Given the description of an element on the screen output the (x, y) to click on. 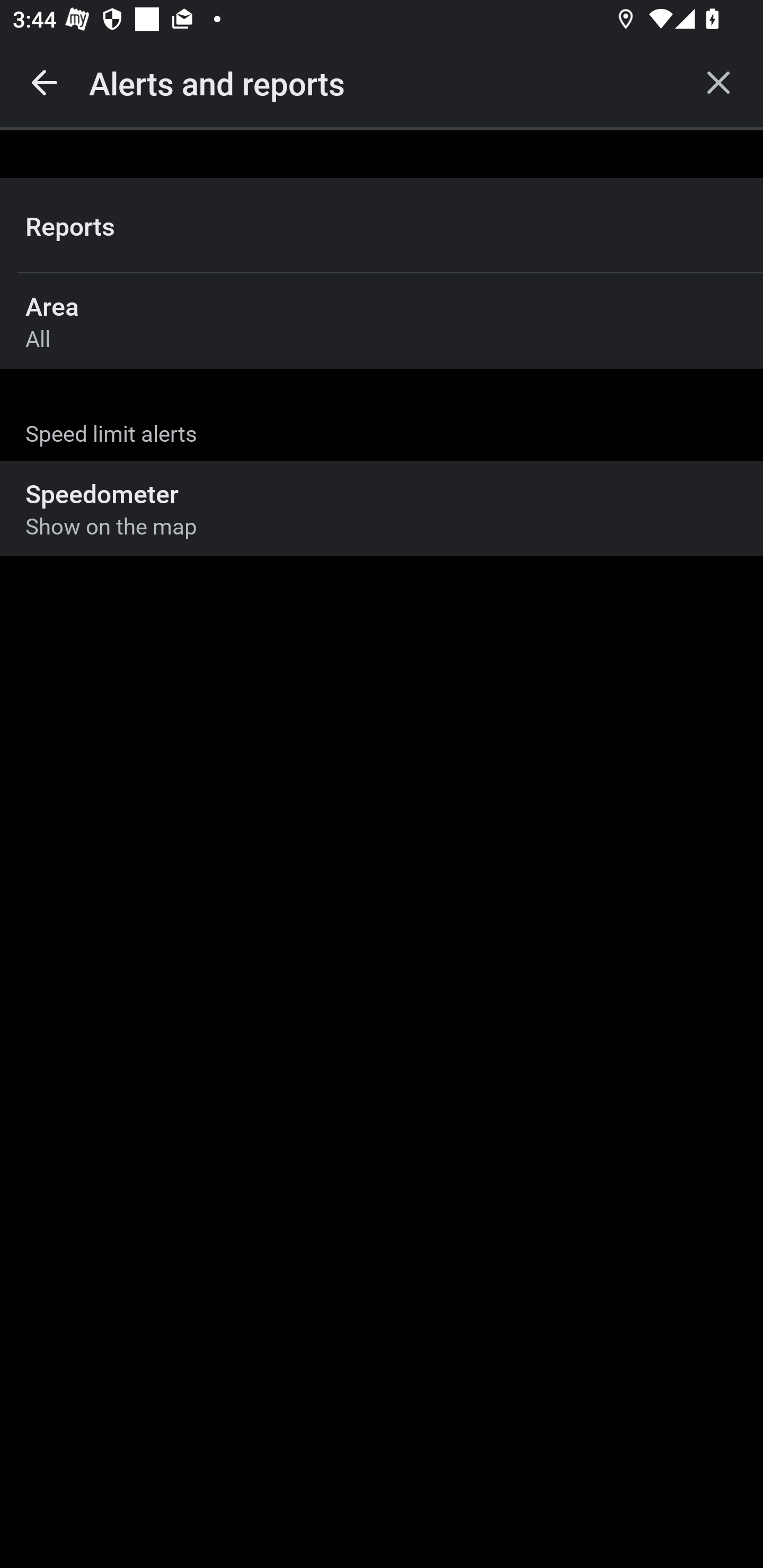
Reports (381, 225)
Area All (381, 320)
ACTION_CELL_ICON Plan a drive ACTION_CELL_TEXT (381, 438)
Speedometer Show on the map (381, 508)
